Given the description of an element on the screen output the (x, y) to click on. 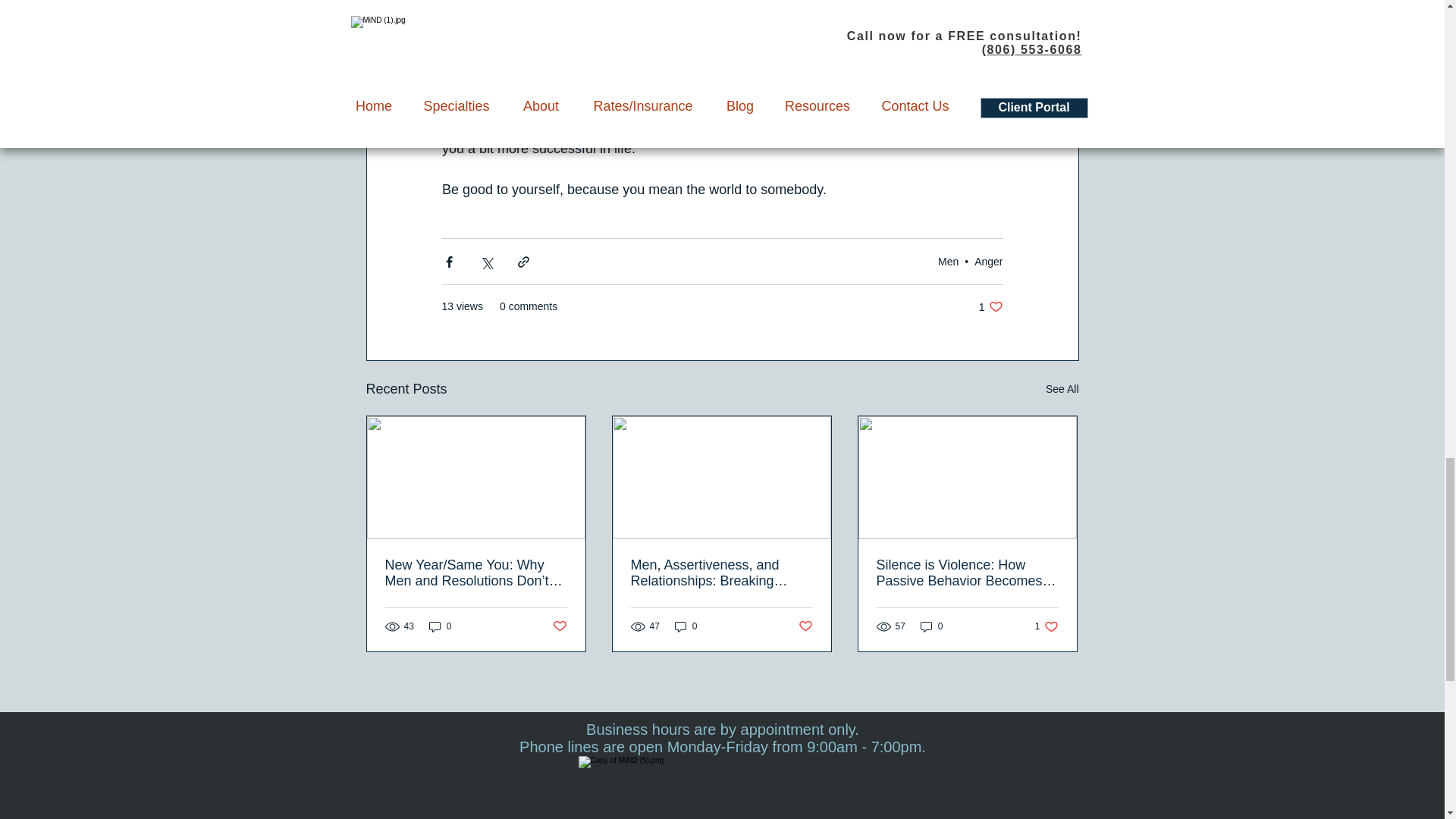
See All (1061, 389)
0 (440, 626)
Post not marked as liked (558, 626)
Men (990, 306)
Anger (947, 261)
